Given the description of an element on the screen output the (x, y) to click on. 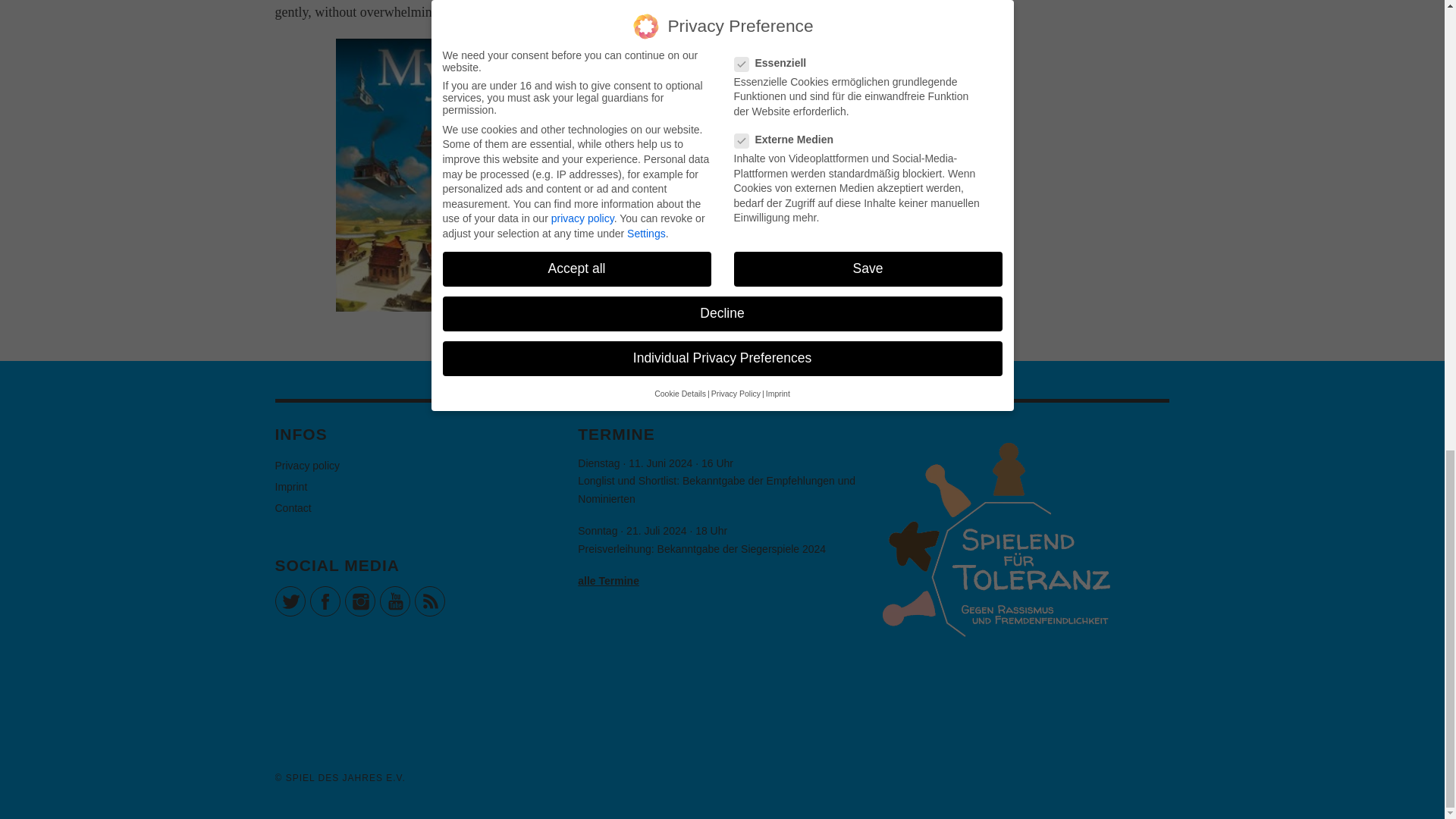
YouTube (393, 601)
Facebook (323, 601)
Imprint (291, 486)
Facebook (323, 601)
Privacy policy (307, 465)
Twitter (289, 601)
Instagram (358, 601)
alle Termine (608, 580)
YouTube (393, 601)
RSS Feed (428, 601)
RSS Feed (428, 601)
Contact (293, 508)
Twitter (289, 601)
Instagram (358, 601)
